Given the description of an element on the screen output the (x, y) to click on. 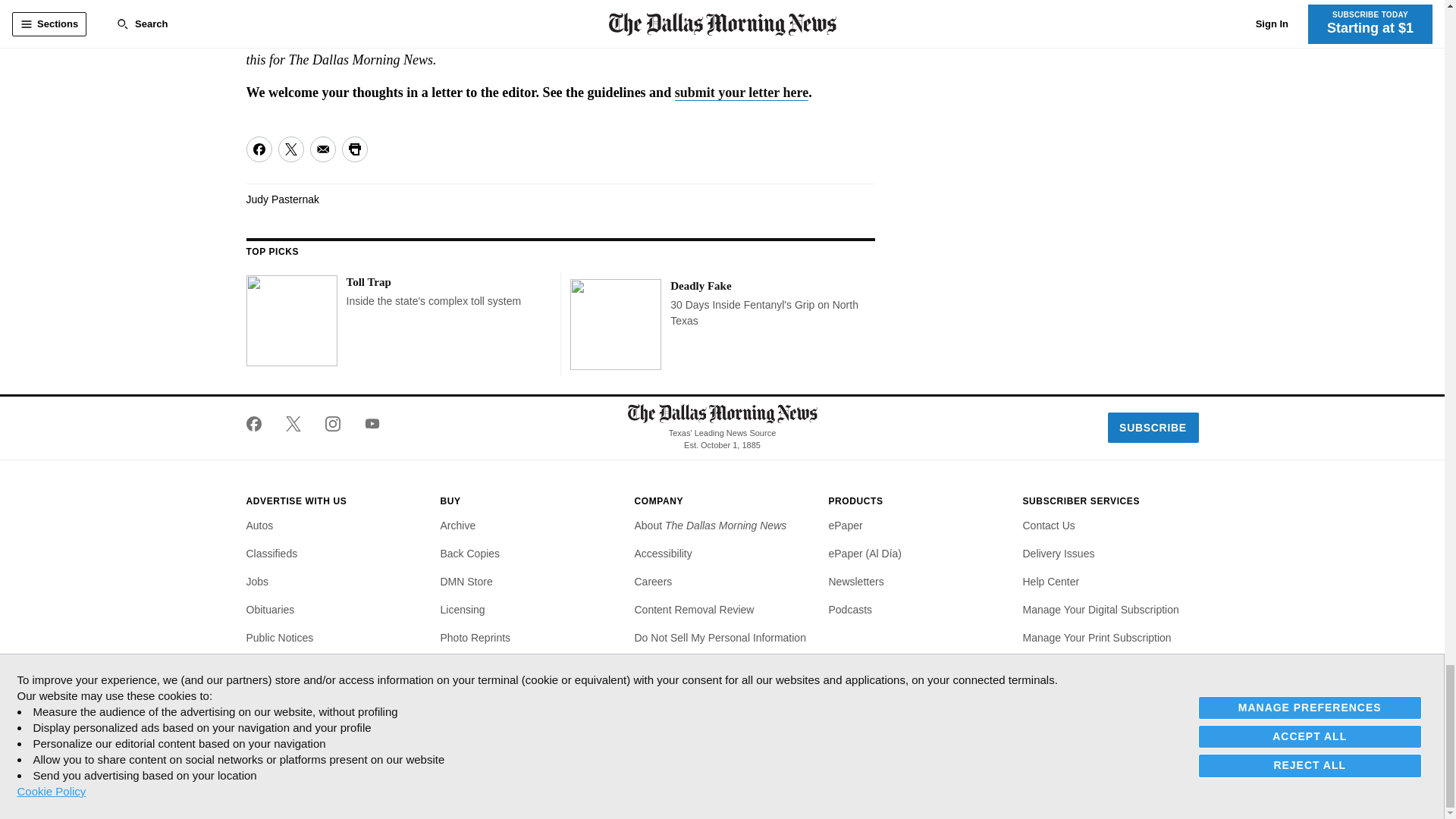
The Dallas Morning News on Twitter (293, 423)
The Dallas Morning News on Instagram (332, 423)
Print (353, 149)
The Dallas Morning News on Facebook (259, 423)
Share on Facebook (258, 149)
Share on Twitter (290, 149)
Share via Email (321, 149)
The Dallas Morning News on YouTube (365, 423)
